Given the description of an element on the screen output the (x, y) to click on. 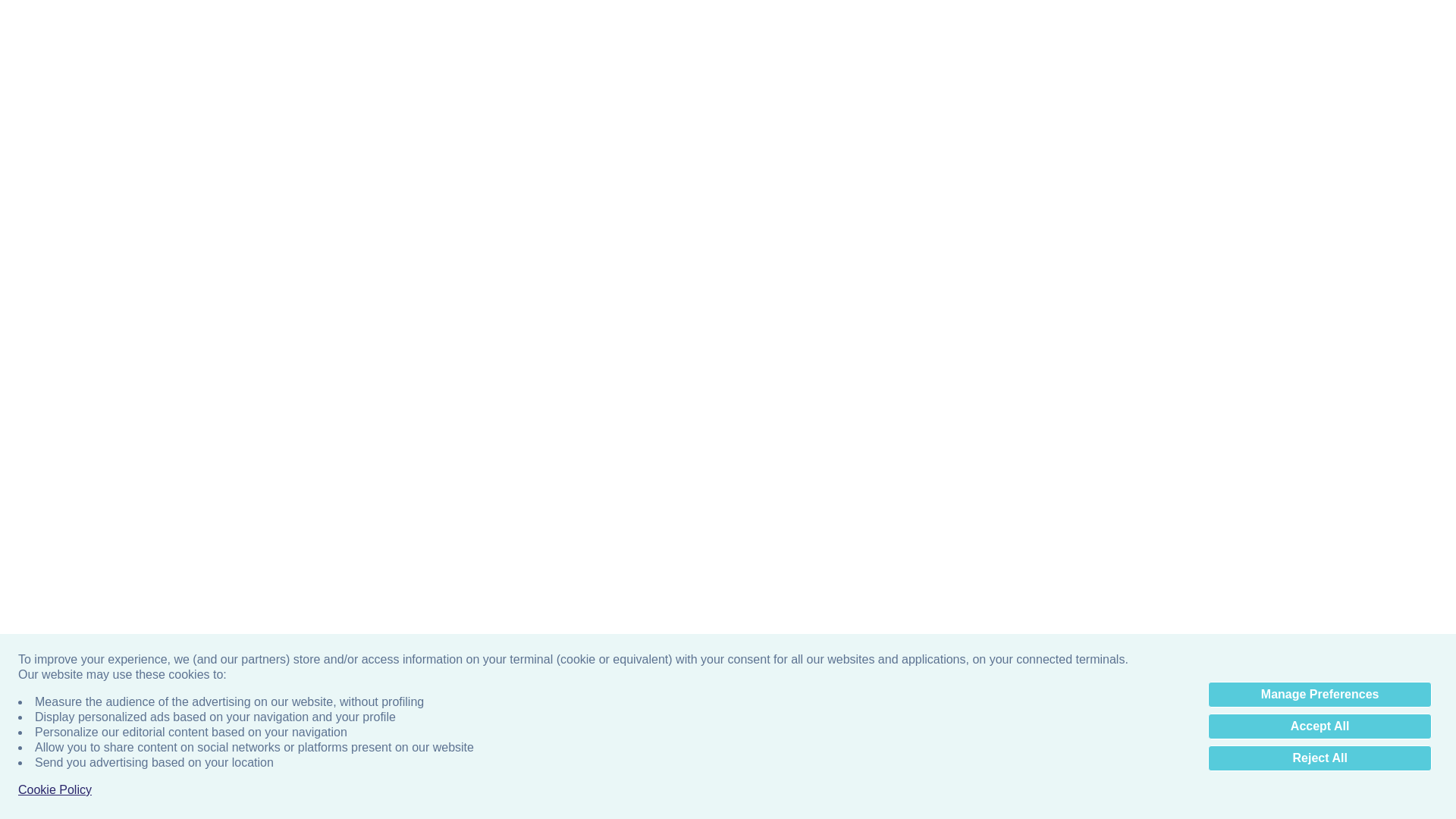
Reject All (1319, 53)
Cookie Policy (54, 84)
Accept All (1319, 21)
